Given the description of an element on the screen output the (x, y) to click on. 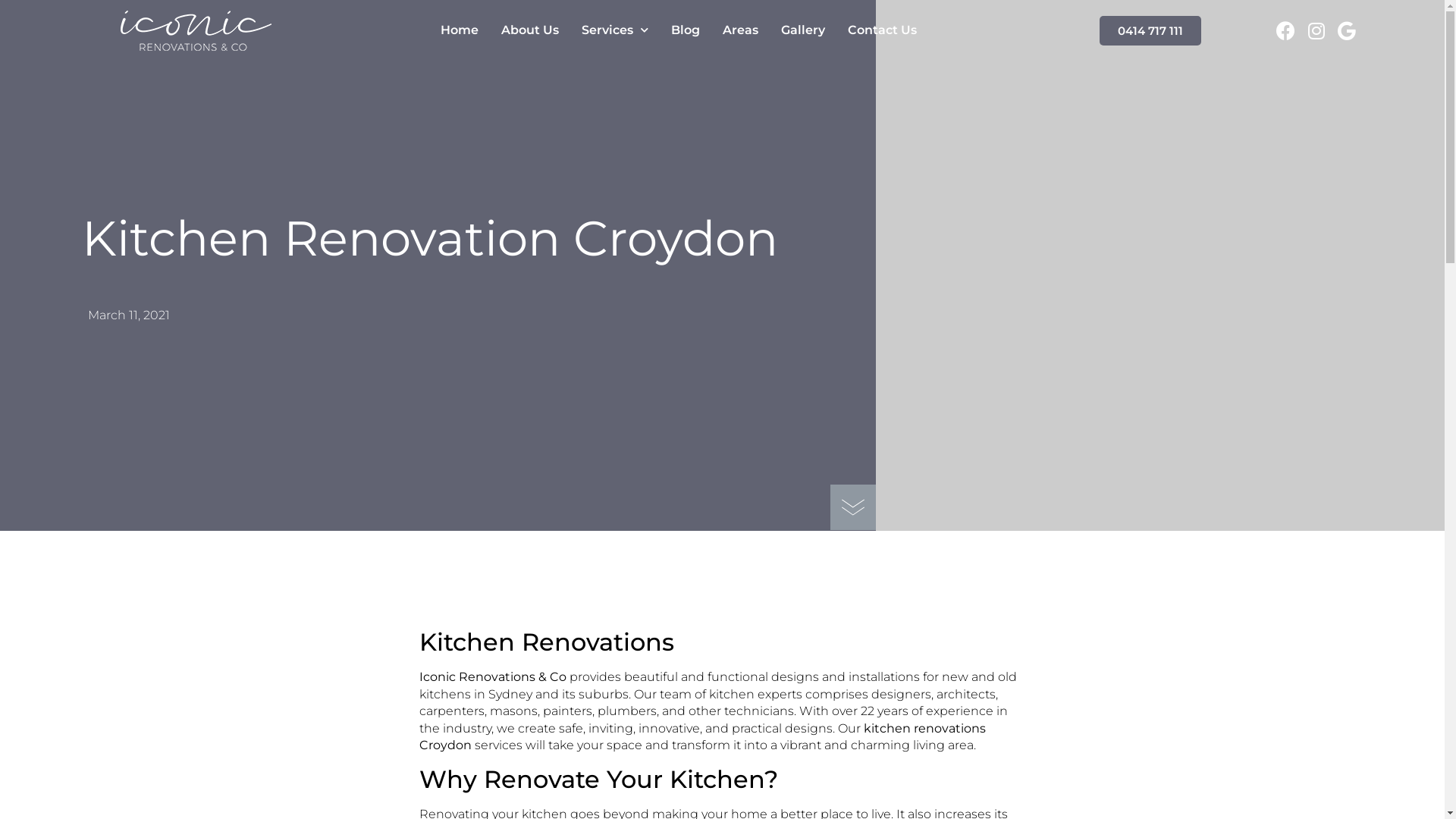
Areas Element type: text (740, 29)
Services Element type: text (614, 29)
Blog Element type: text (685, 29)
About Us Element type: text (529, 29)
0414 717 111 Element type: text (1150, 29)
Home Element type: text (459, 29)
Gallery Element type: text (802, 29)
Contact Us Element type: text (882, 29)
